Given the description of an element on the screen output the (x, y) to click on. 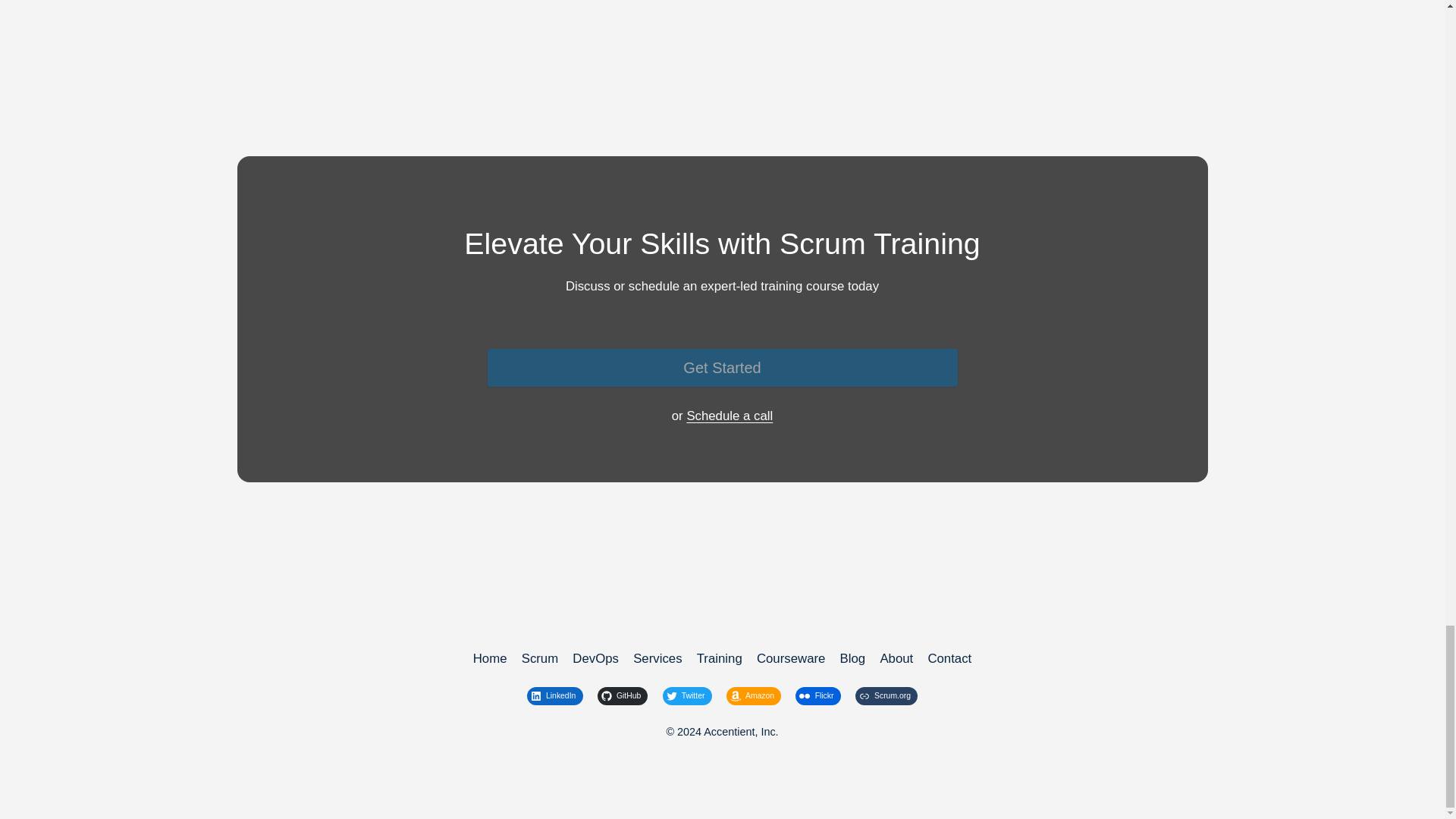
Get Started (721, 367)
Home (489, 659)
Schedule a call (729, 415)
